Given the description of an element on the screen output the (x, y) to click on. 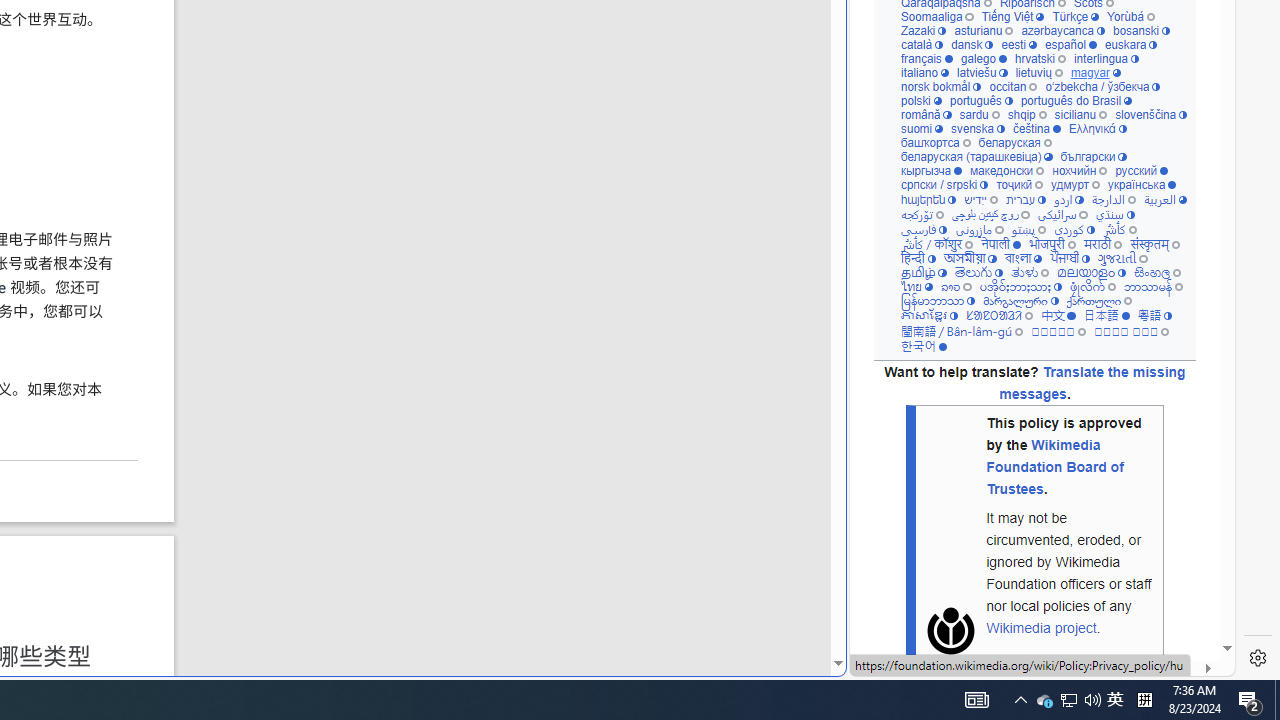
Zazaki (923, 30)
svenska (976, 128)
